Given the description of an element on the screen output the (x, y) to click on. 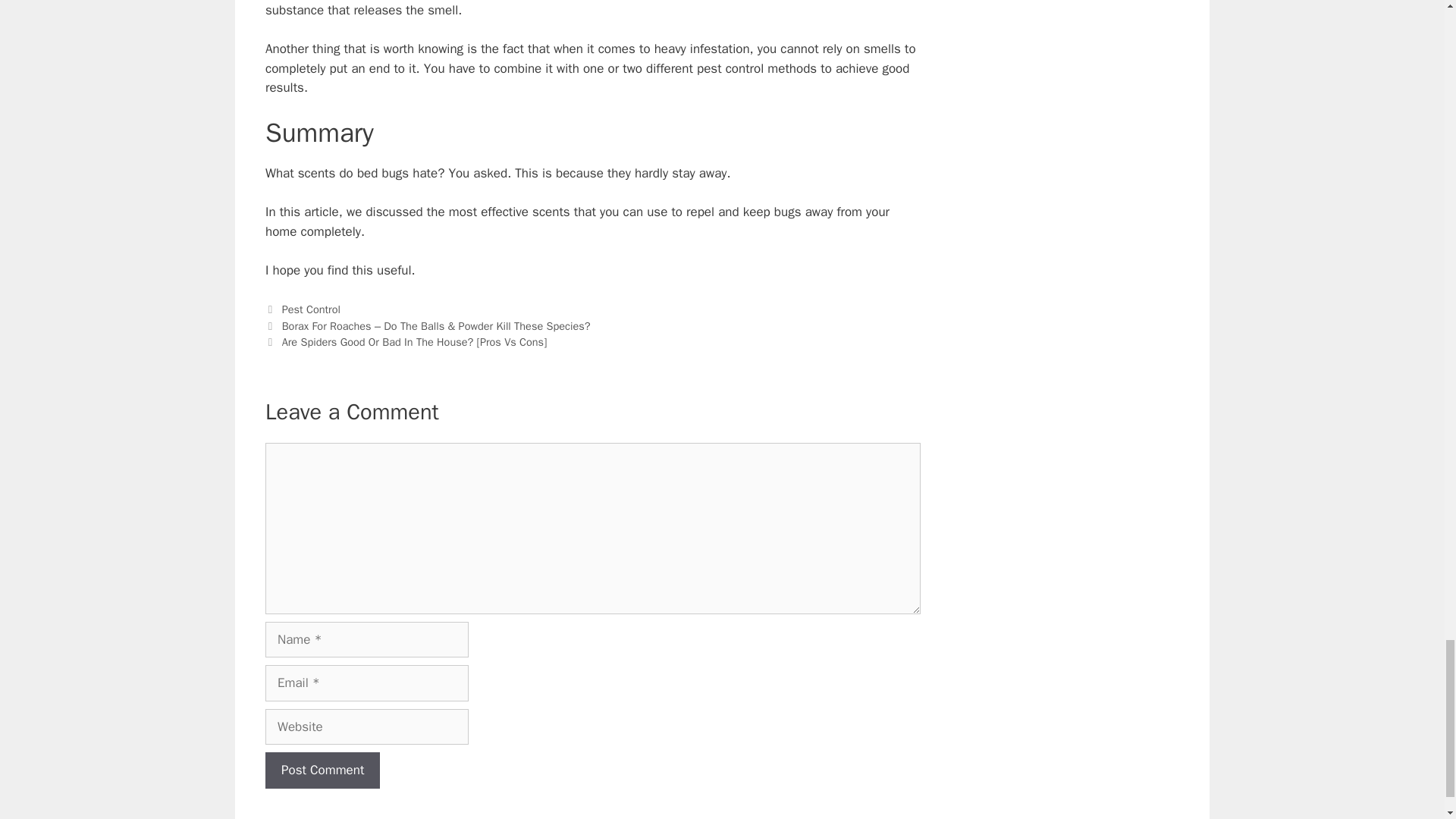
Post Comment (322, 770)
